Given the description of an element on the screen output the (x, y) to click on. 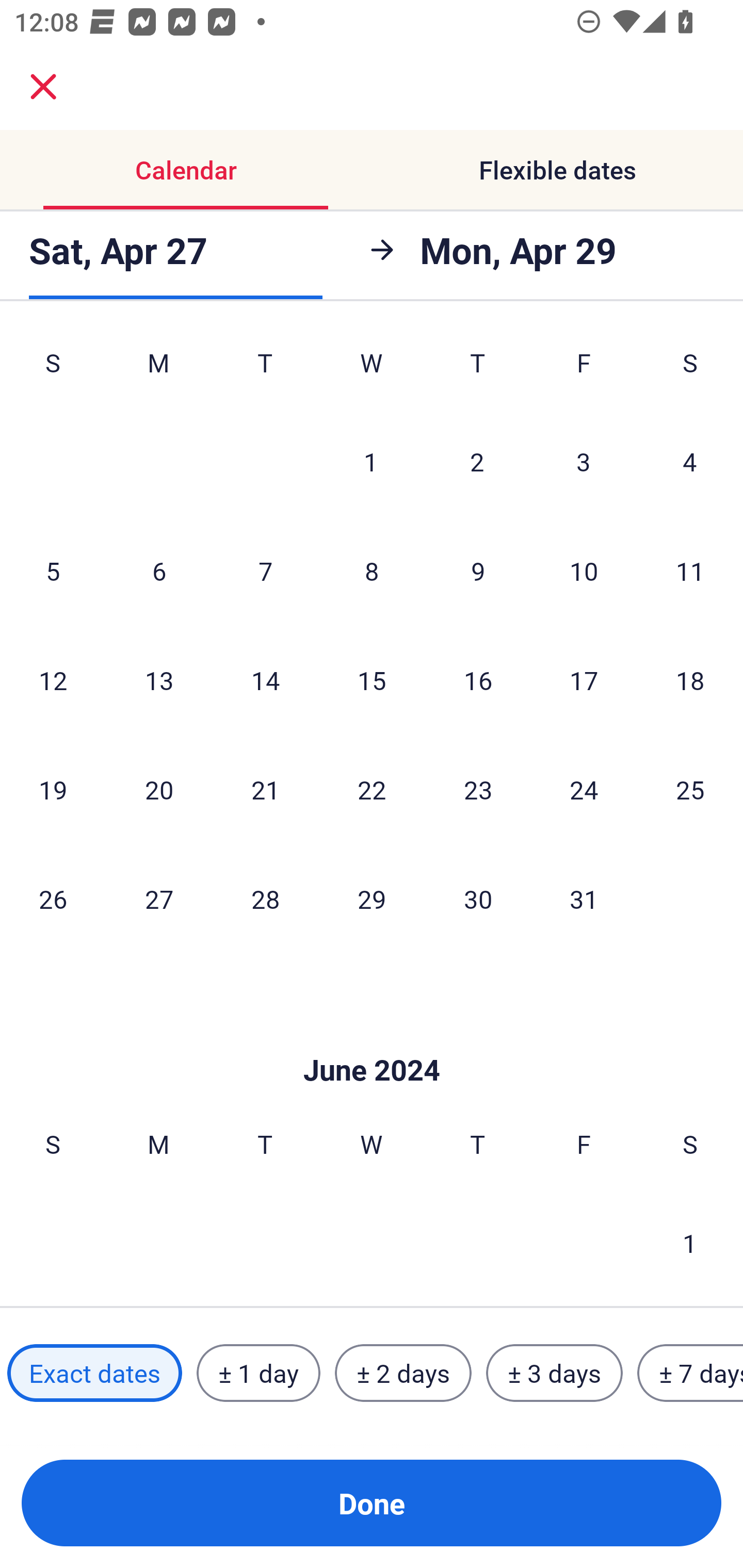
close. (43, 86)
Flexible dates (557, 170)
1 Wednesday, May 1, 2024 (371, 461)
2 Thursday, May 2, 2024 (477, 461)
3 Friday, May 3, 2024 (583, 461)
4 Saturday, May 4, 2024 (689, 461)
5 Sunday, May 5, 2024 (53, 570)
6 Monday, May 6, 2024 (159, 570)
7 Tuesday, May 7, 2024 (265, 570)
8 Wednesday, May 8, 2024 (371, 570)
9 Thursday, May 9, 2024 (477, 570)
10 Friday, May 10, 2024 (584, 570)
11 Saturday, May 11, 2024 (690, 570)
12 Sunday, May 12, 2024 (53, 679)
13 Monday, May 13, 2024 (159, 679)
14 Tuesday, May 14, 2024 (265, 679)
15 Wednesday, May 15, 2024 (371, 679)
16 Thursday, May 16, 2024 (477, 679)
17 Friday, May 17, 2024 (584, 679)
18 Saturday, May 18, 2024 (690, 679)
19 Sunday, May 19, 2024 (53, 789)
20 Monday, May 20, 2024 (159, 789)
21 Tuesday, May 21, 2024 (265, 789)
22 Wednesday, May 22, 2024 (371, 789)
23 Thursday, May 23, 2024 (477, 789)
24 Friday, May 24, 2024 (584, 789)
25 Saturday, May 25, 2024 (690, 789)
26 Sunday, May 26, 2024 (53, 898)
27 Monday, May 27, 2024 (159, 898)
28 Tuesday, May 28, 2024 (265, 898)
29 Wednesday, May 29, 2024 (371, 898)
30 Thursday, May 30, 2024 (477, 898)
31 Friday, May 31, 2024 (584, 898)
Skip to Done (371, 1038)
1 Saturday, June 1, 2024 (689, 1242)
Exact dates (94, 1372)
± 1 day (258, 1372)
± 2 days (403, 1372)
± 3 days (553, 1372)
± 7 days (690, 1372)
Done (371, 1502)
